Given the description of an element on the screen output the (x, y) to click on. 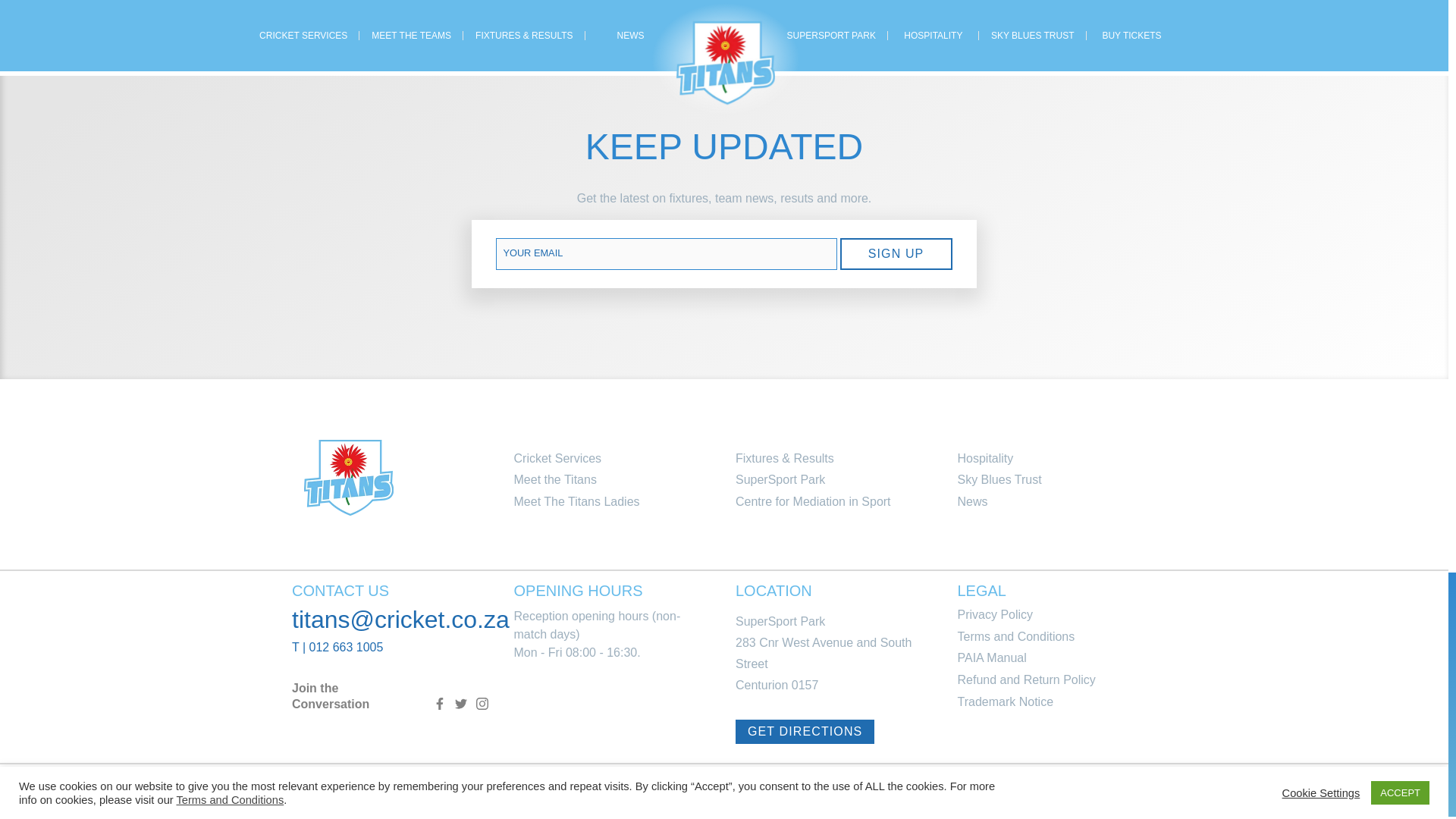
SIGN UP (896, 254)
